Given the description of an element on the screen output the (x, y) to click on. 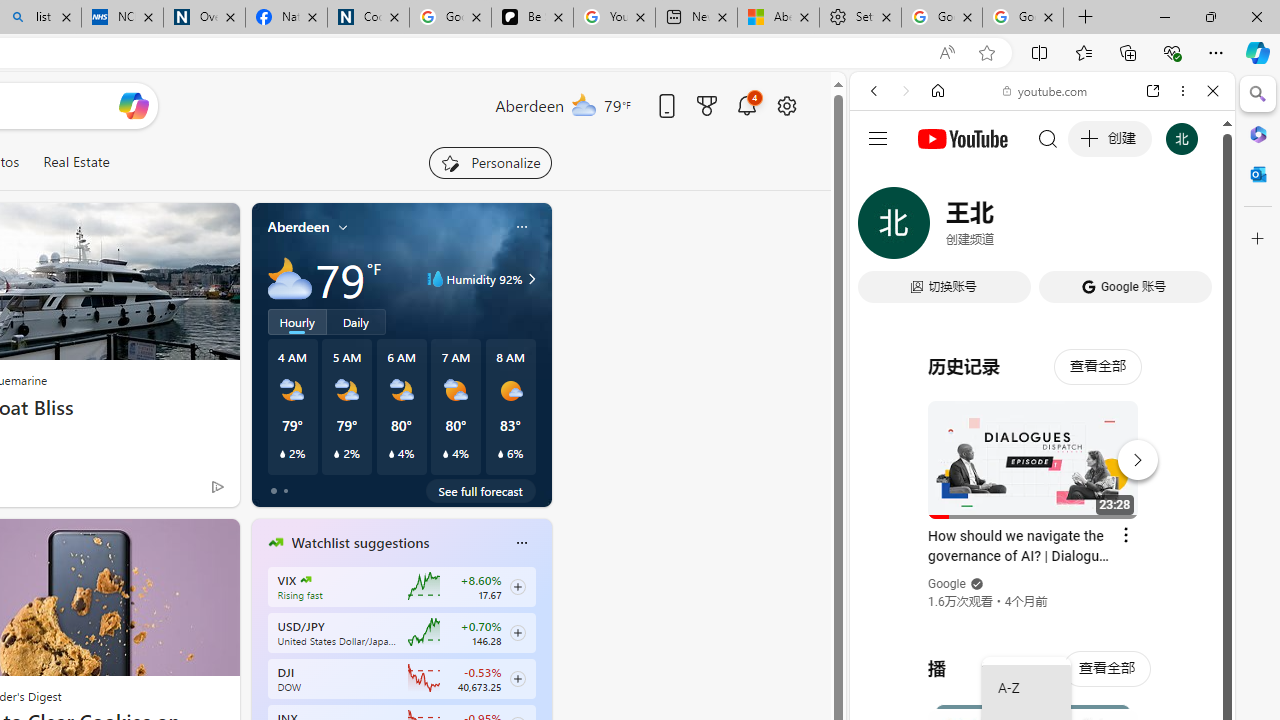
Class: icon-img (521, 542)
Real Estate (75, 162)
Music (1042, 543)
